Given the description of an element on the screen output the (x, y) to click on. 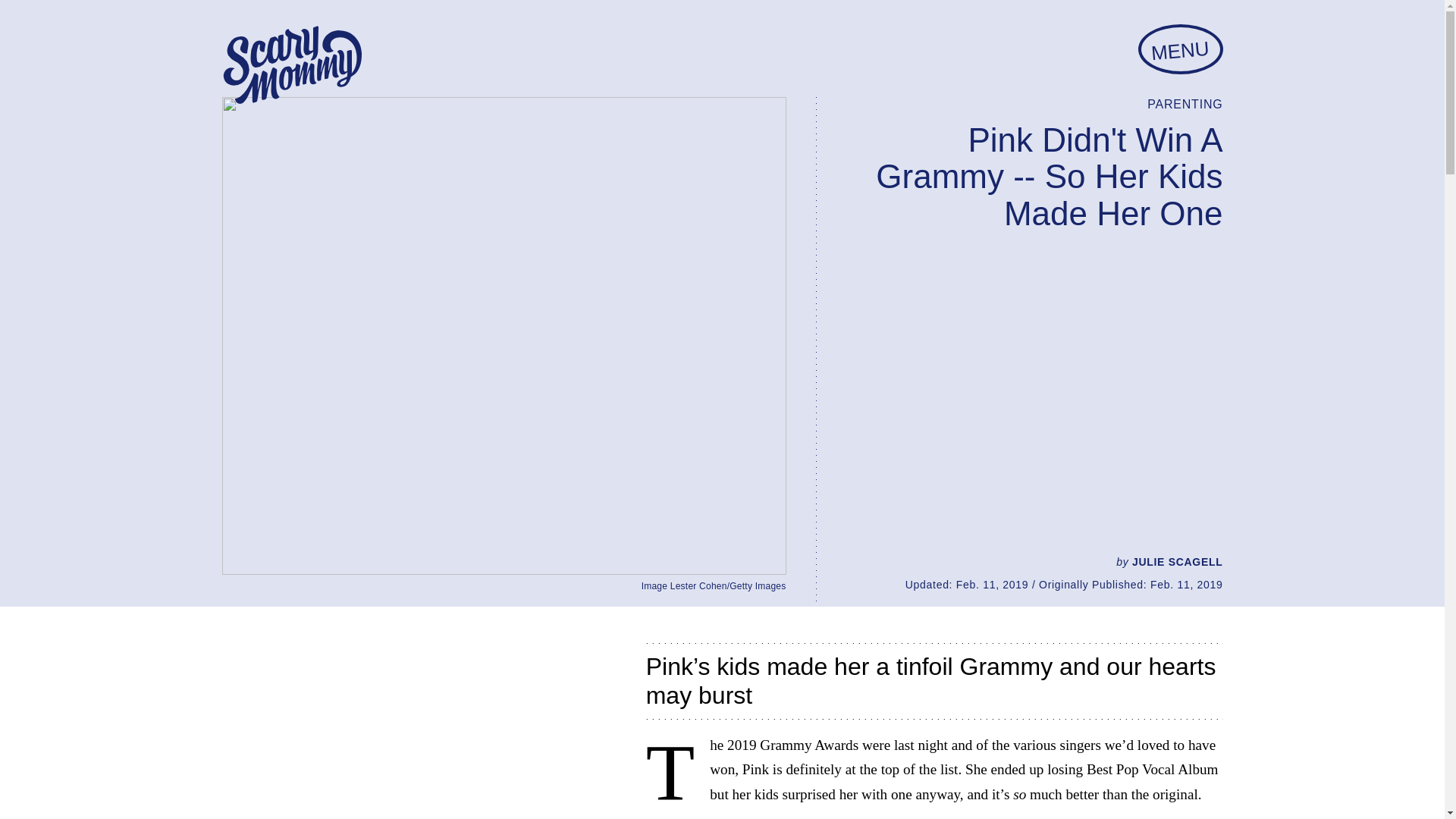
Scary Mommy (291, 64)
